Given the description of an element on the screen output the (x, y) to click on. 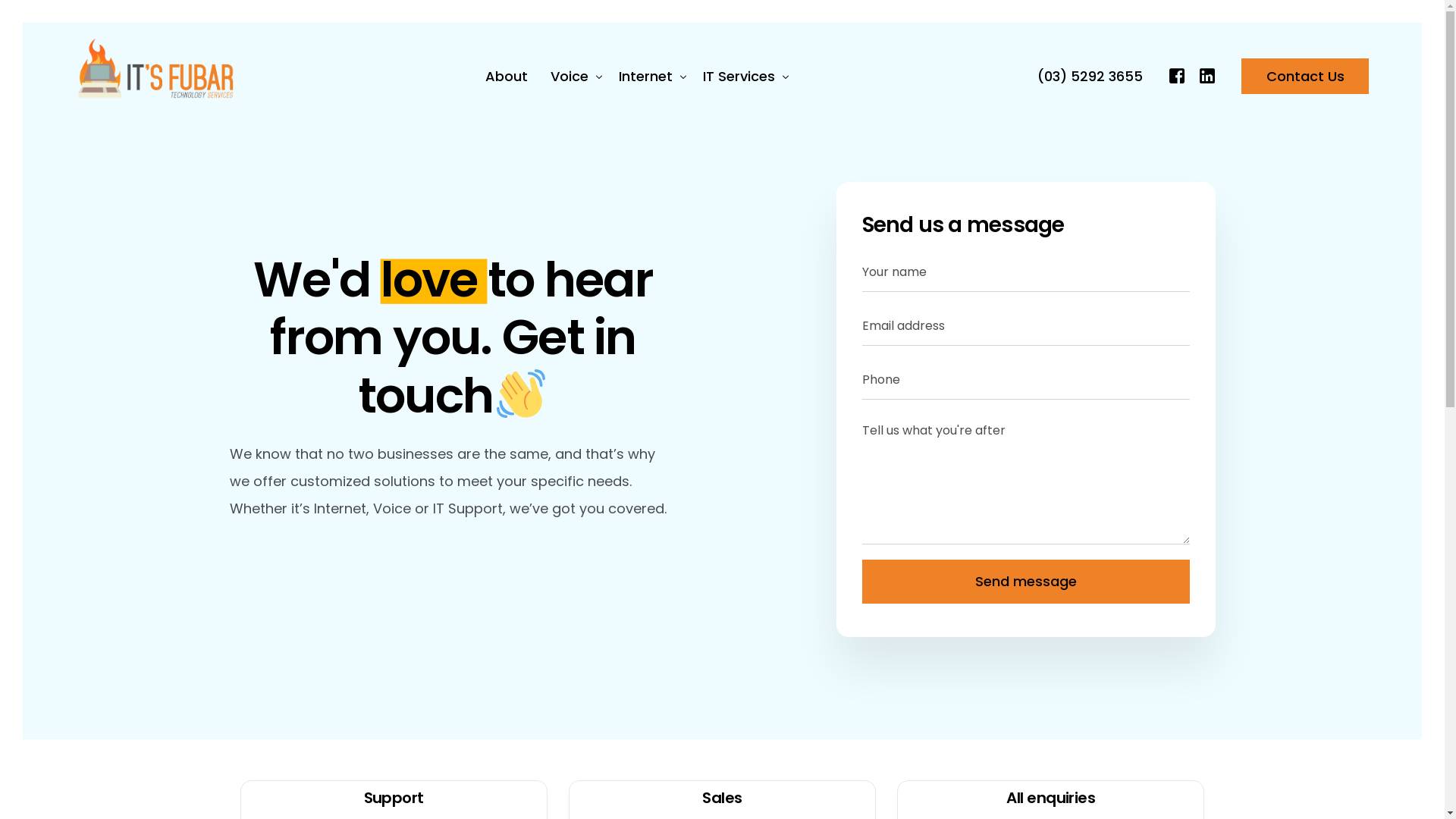
Voice Element type: text (573, 75)
About Element type: text (506, 75)
Internet Element type: text (649, 75)
(03) 5292 3655 Element type: text (1089, 75)
IT Services Element type: text (742, 75)
Contact Us Element type: text (1304, 76)
Send message Element type: text (1025, 581)
